Given the description of an element on the screen output the (x, y) to click on. 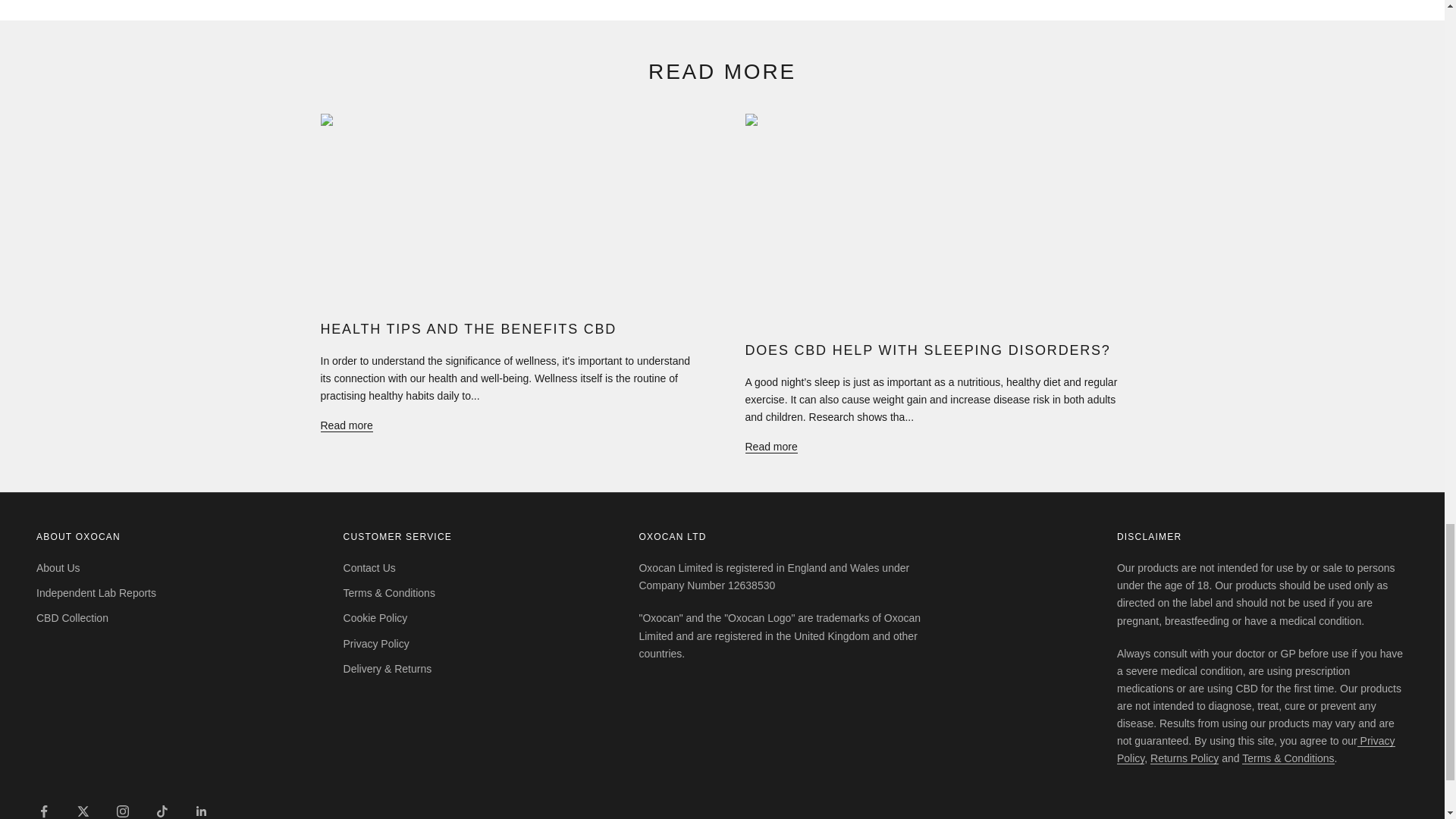
Independent Lab Reports (95, 592)
Privacy Policy (1255, 749)
Refund Policy (1184, 758)
CBD Collection (71, 617)
DOES CBD HELP WITH SLEEPING DISORDERS? (926, 350)
About Us (58, 567)
Terms of Service (1287, 758)
HEALTH TIPS AND THE BENEFITS CBD (467, 328)
Cookie Policy (375, 617)
Read more (770, 446)
Privacy Policy (376, 644)
Contact Us (369, 567)
Read more (346, 425)
Privacy Policy (1255, 749)
